Given the description of an element on the screen output the (x, y) to click on. 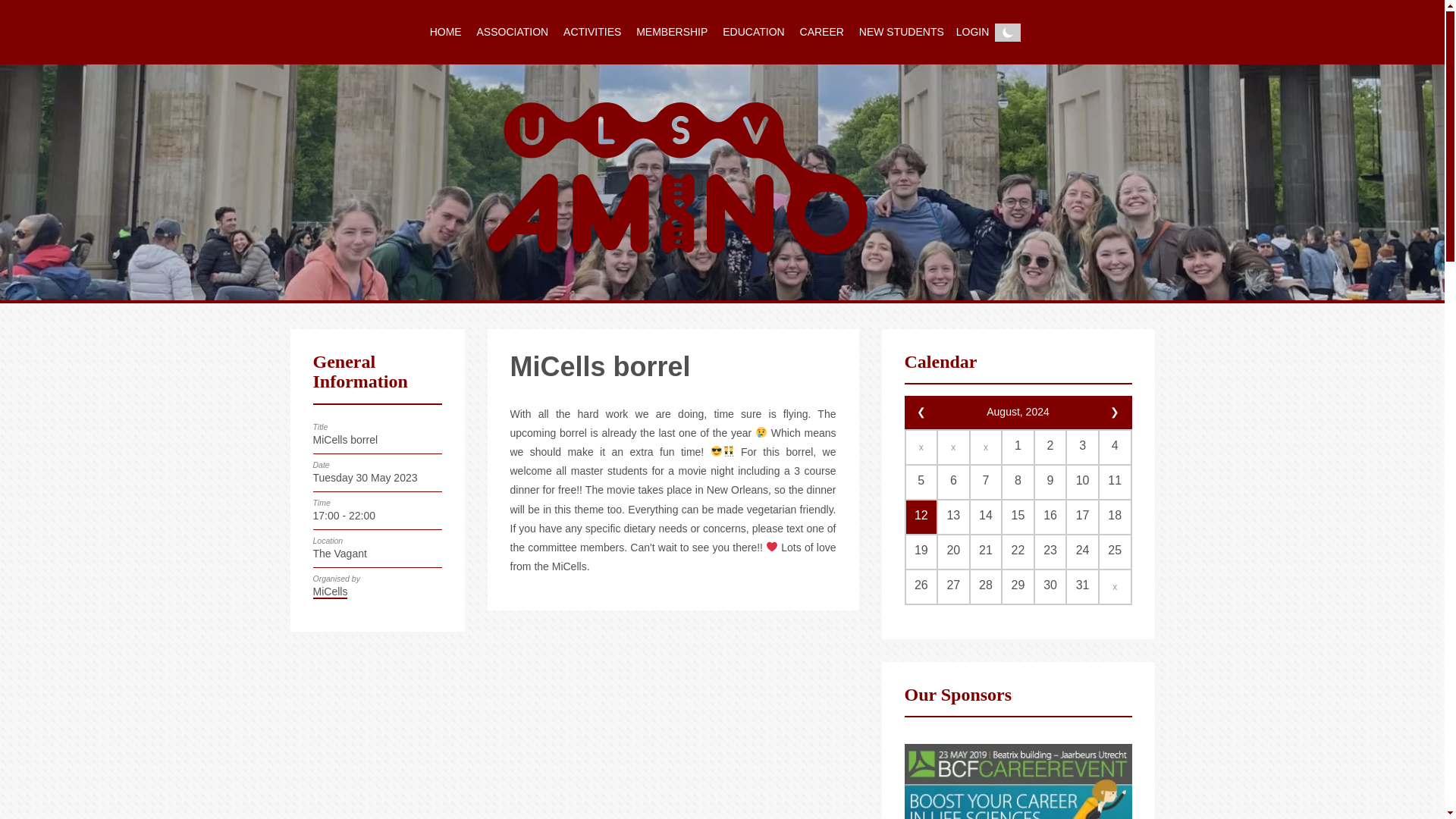
ACTIVITIES (592, 32)
EDUCATION (753, 32)
MEMBERSHIP (671, 32)
ASSOCIATION (512, 32)
